Given the description of an element on the screen output the (x, y) to click on. 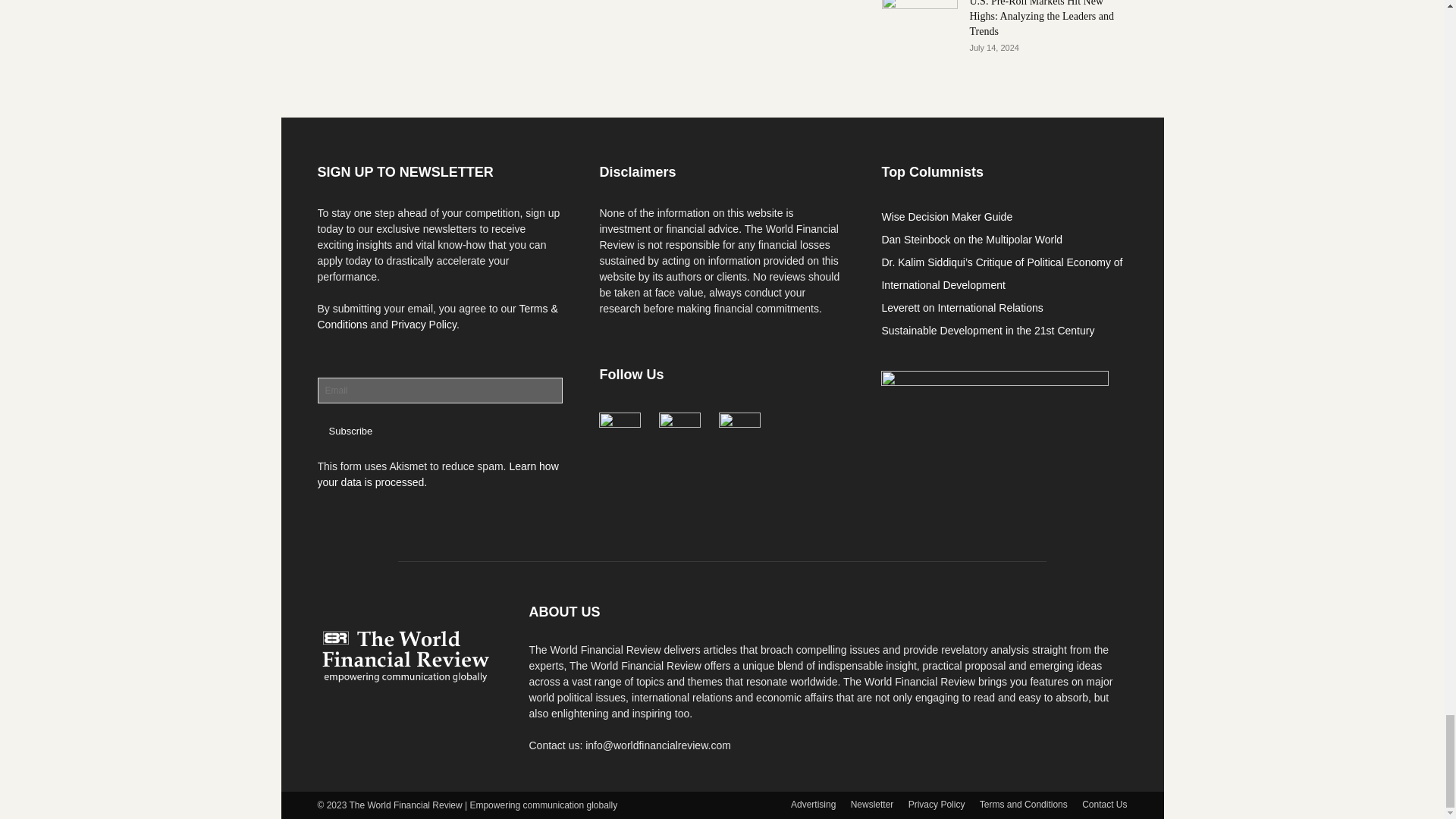
Subscribe (350, 431)
